Given the description of an element on the screen output the (x, y) to click on. 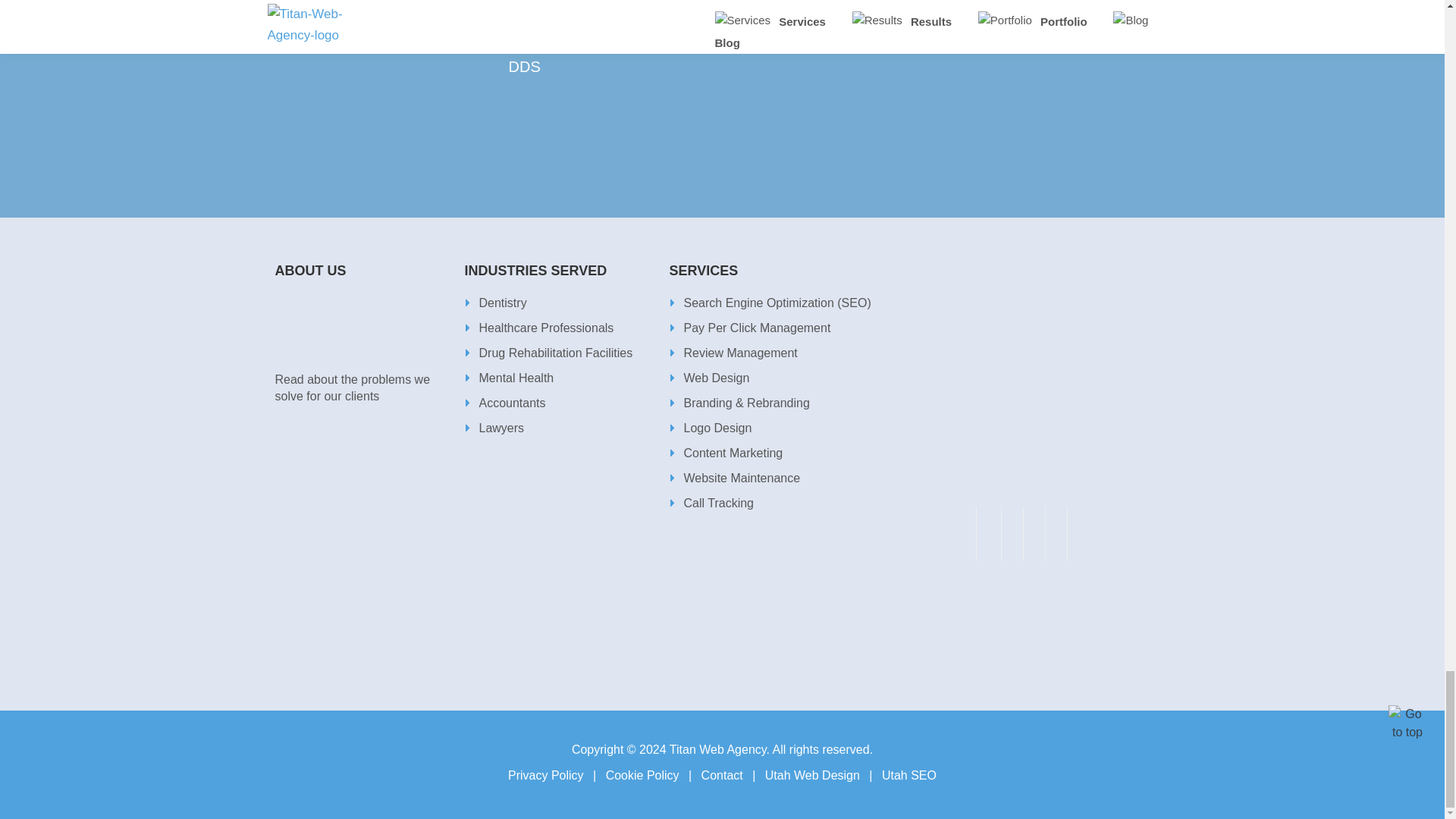
Twitter (1012, 537)
Review Management (732, 352)
Youtube (1034, 537)
Healthcare Professionals (538, 327)
Google Partner (352, 482)
Mental Health (508, 377)
Read about the problems we solve for our clients (361, 383)
Drug Rehabilitation Facilities (547, 352)
Pay Per Click Management (748, 327)
Lawyers (494, 427)
The 10 Minute Healthcare Marketing Podcast (1021, 382)
Facebook (988, 537)
LinkedIn (1056, 537)
Dentistry (494, 302)
Accountants (504, 402)
